Given the description of an element on the screen output the (x, y) to click on. 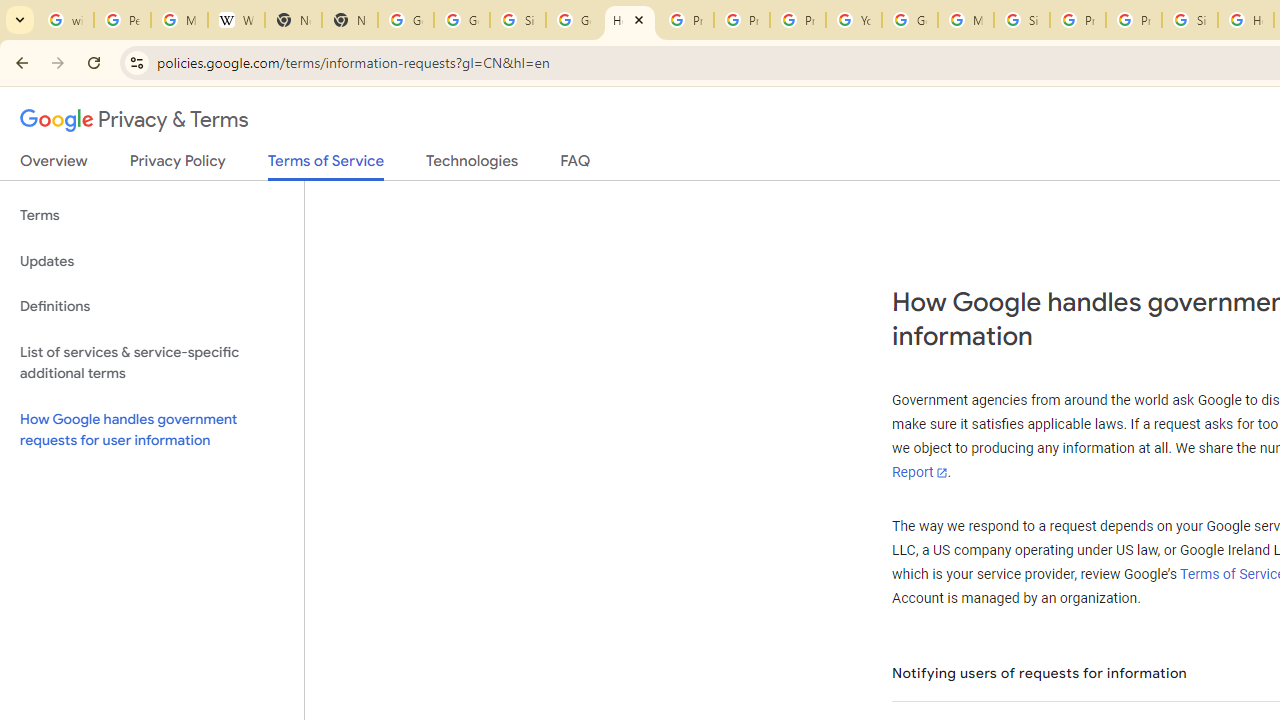
New Tab (349, 20)
Google Account Help (909, 20)
Sign in - Google Accounts (1021, 20)
Sign in - Google Accounts (518, 20)
Wikipedia:Edit requests - Wikipedia (235, 20)
